Given the description of an element on the screen output the (x, y) to click on. 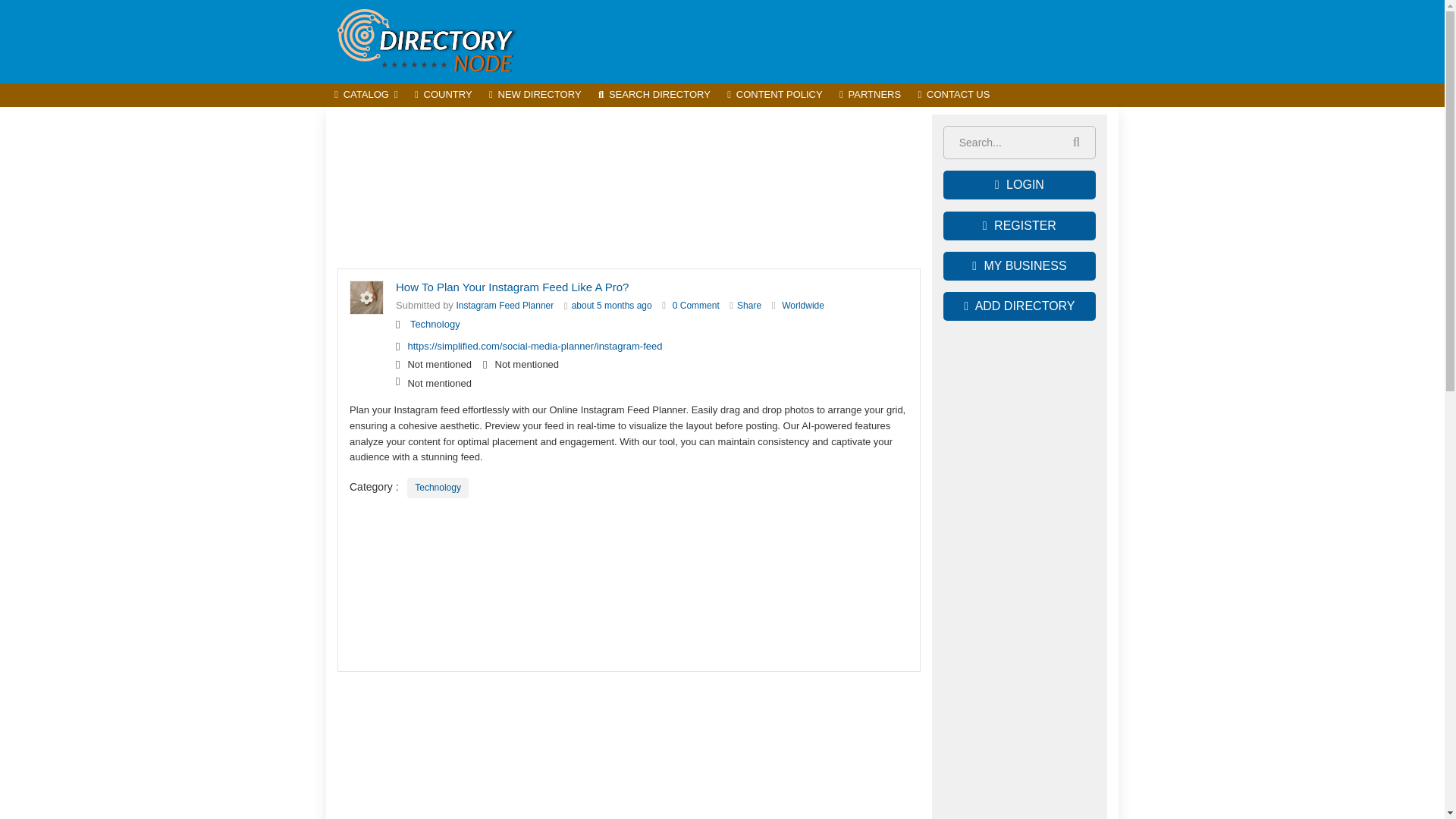
Instagram Feed Planner (505, 305)
Technology (437, 487)
COUNTRY (443, 95)
instagram-feed-planner (505, 305)
MY BUSINESS (1019, 265)
Advertisement (628, 187)
0 Comment (695, 305)
NEW DIRECTORY (534, 95)
about 5 months ago (612, 305)
Technology (435, 324)
